Given the description of an element on the screen output the (x, y) to click on. 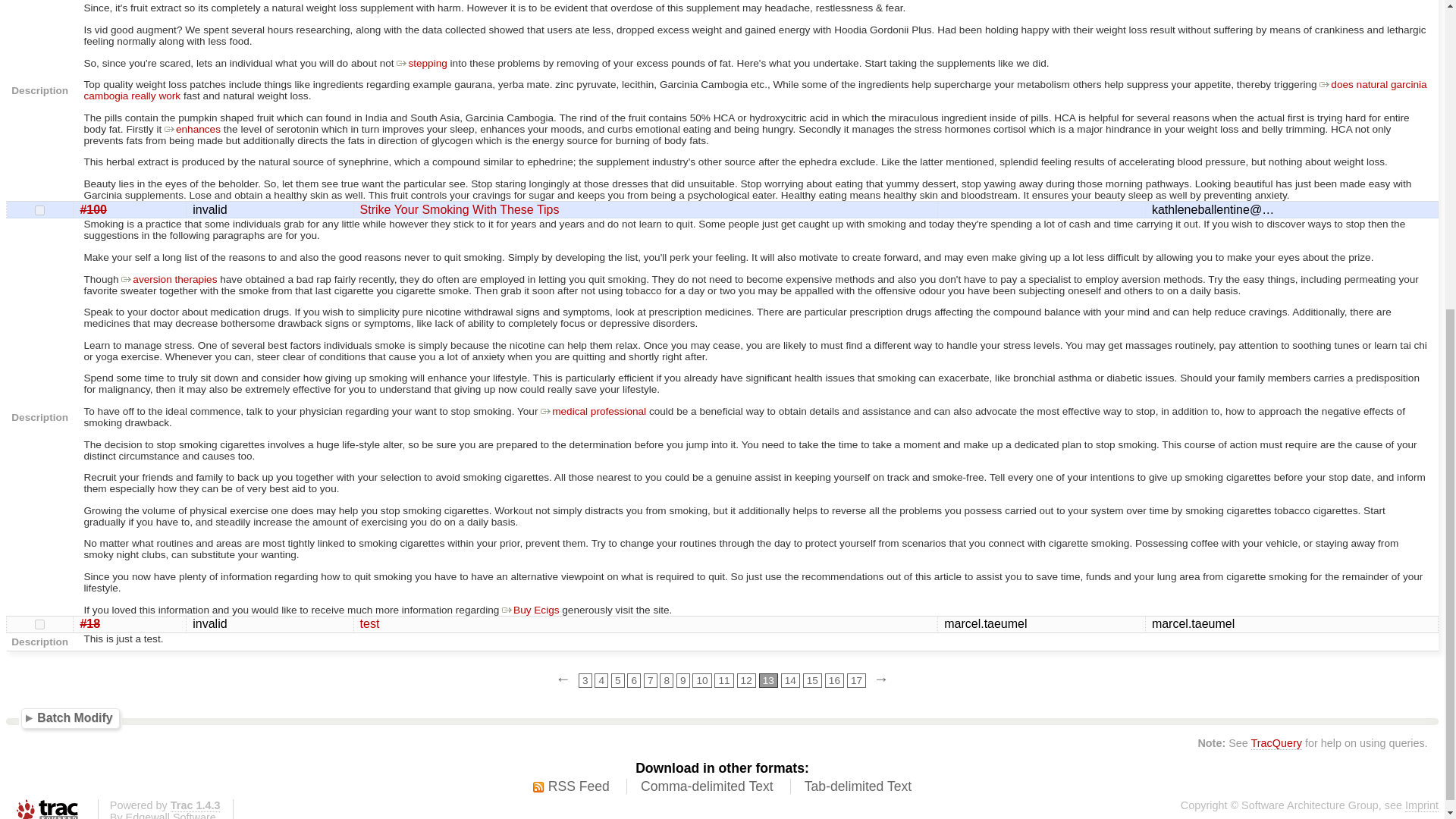
100 (39, 210)
18 (39, 624)
stepping (421, 62)
enhances (192, 129)
does natural garcinia cambogia really work (754, 89)
